Given the description of an element on the screen output the (x, y) to click on. 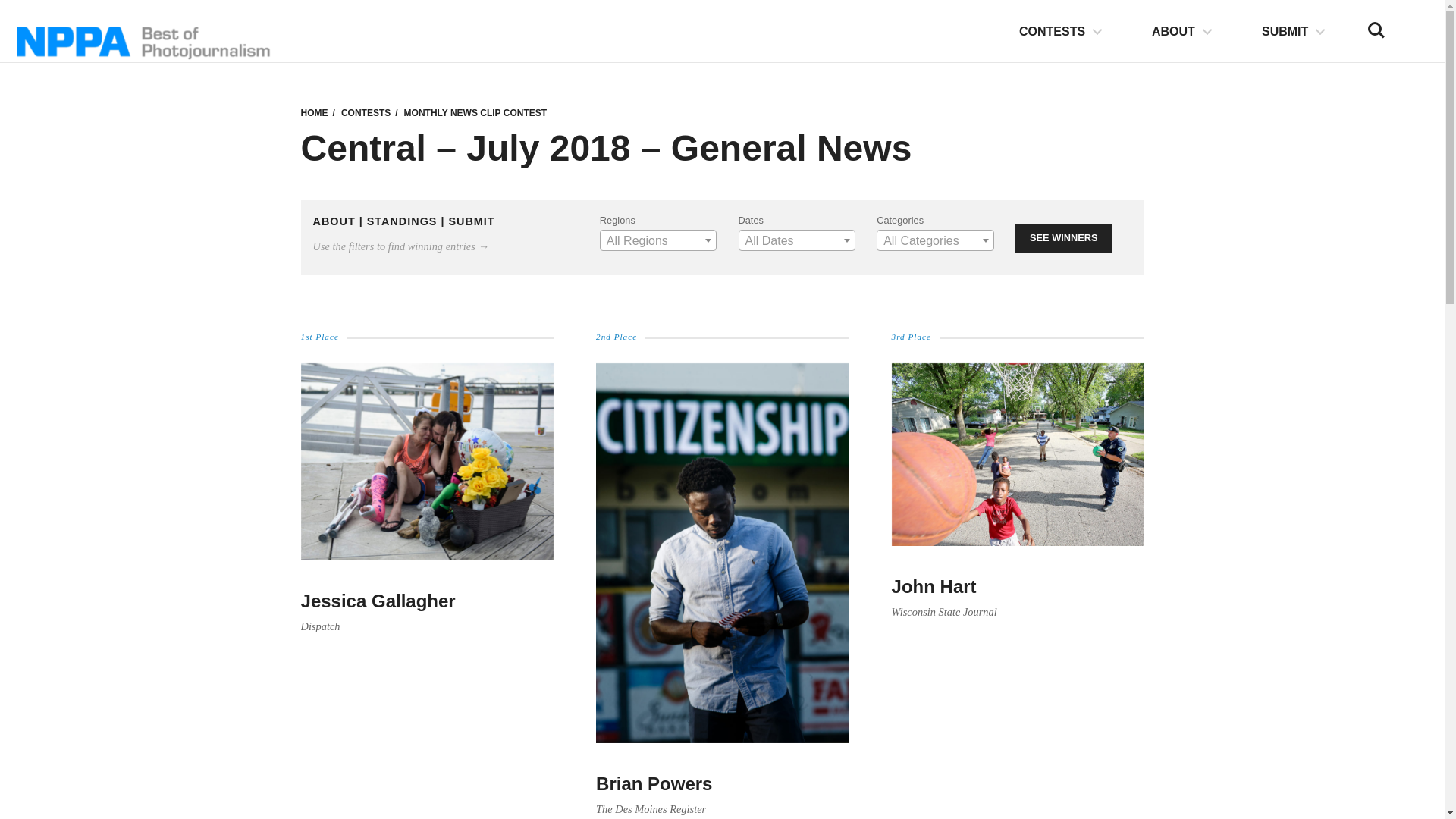
Monthly News Clip Contest (474, 112)
CONTESTS (1059, 31)
ABOUT (1180, 31)
NPPA Contests (313, 112)
NPPA Contests Contests (365, 112)
